Given the description of an element on the screen output the (x, y) to click on. 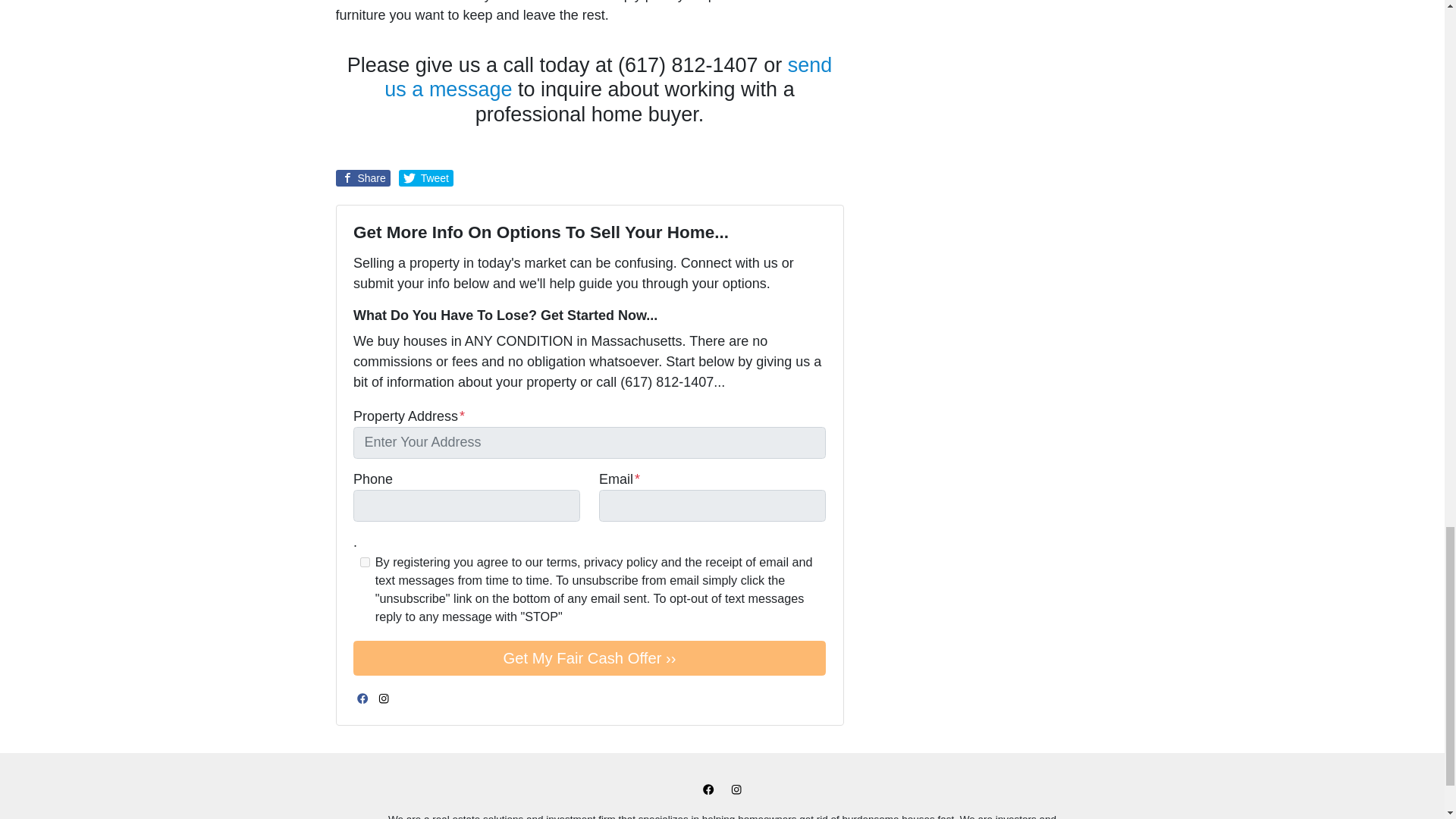
send us a message (607, 77)
Facebook (362, 698)
Tweet (425, 177)
Facebook (707, 789)
Share on Facebook (362, 177)
Instagram (383, 698)
Instagram (735, 789)
Share on Twitter (425, 177)
Share (362, 177)
